Given the description of an element on the screen output the (x, y) to click on. 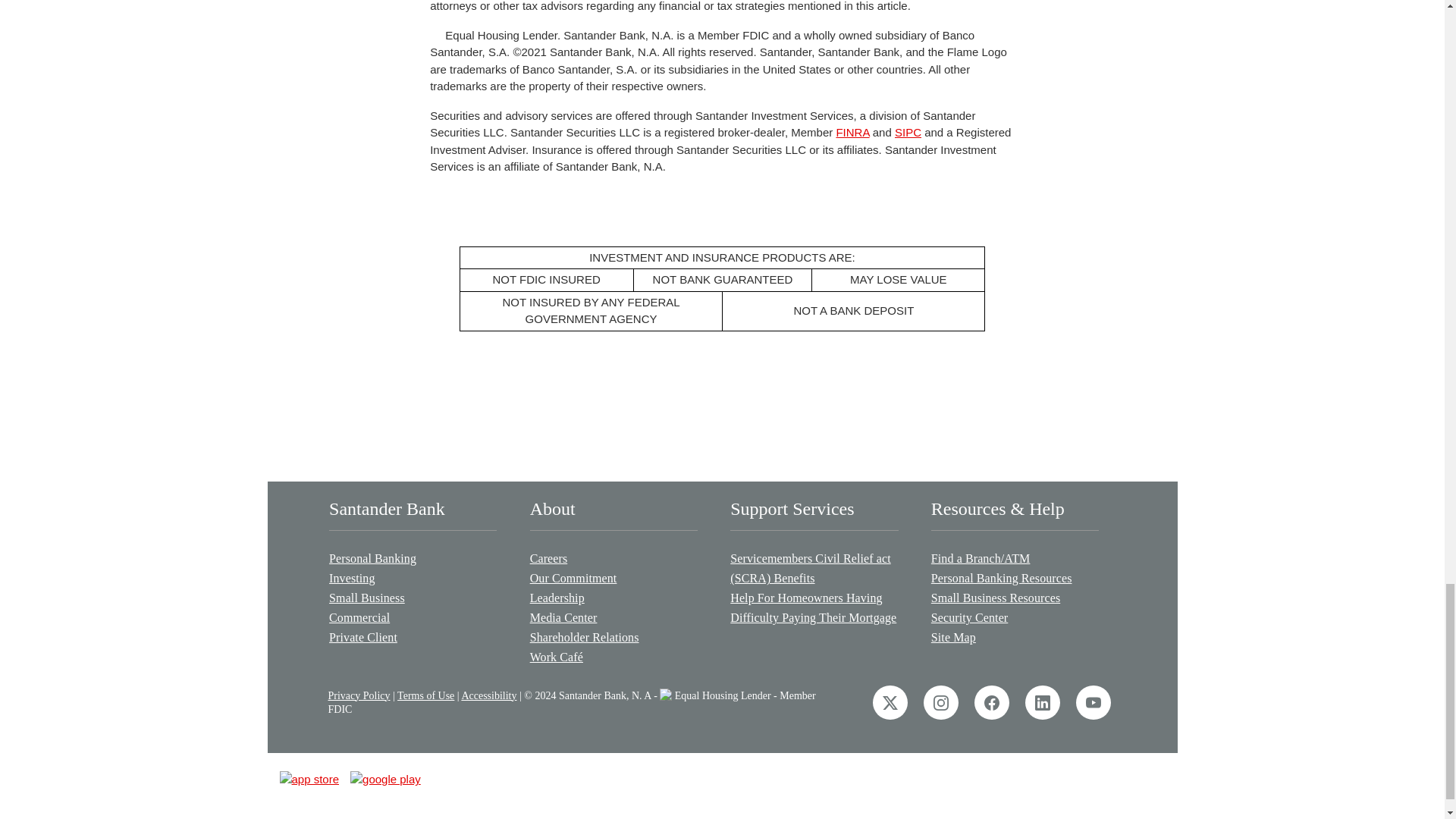
Small Business (412, 598)
Our Commitment (613, 578)
SIPC (908, 132)
Investing (412, 578)
Leadership (613, 598)
FINRA (852, 132)
Private Client (412, 637)
Commercial (412, 618)
Personal Banking (412, 558)
Shareholder Relations (613, 637)
Careers (613, 558)
Media Center (613, 618)
